Given the description of an element on the screen output the (x, y) to click on. 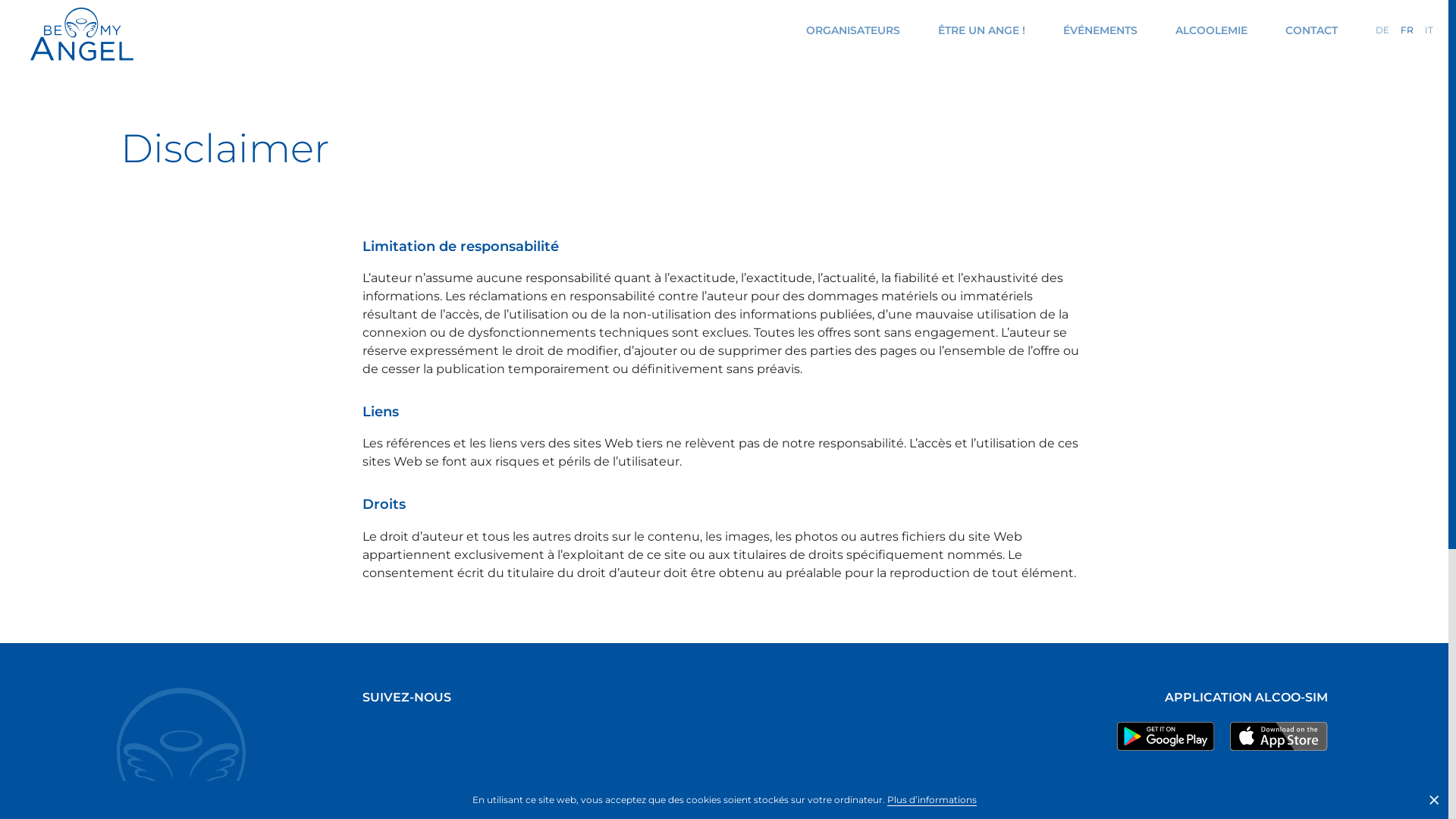
FR Element type: text (1406, 29)
DE Element type: text (1382, 29)
CONTACT Element type: text (1311, 30)
ALCOOLEMIE Element type: text (1211, 30)
ORGANISATEURS Element type: text (853, 30)
IT Element type: text (1428, 29)
